Given the description of an element on the screen output the (x, y) to click on. 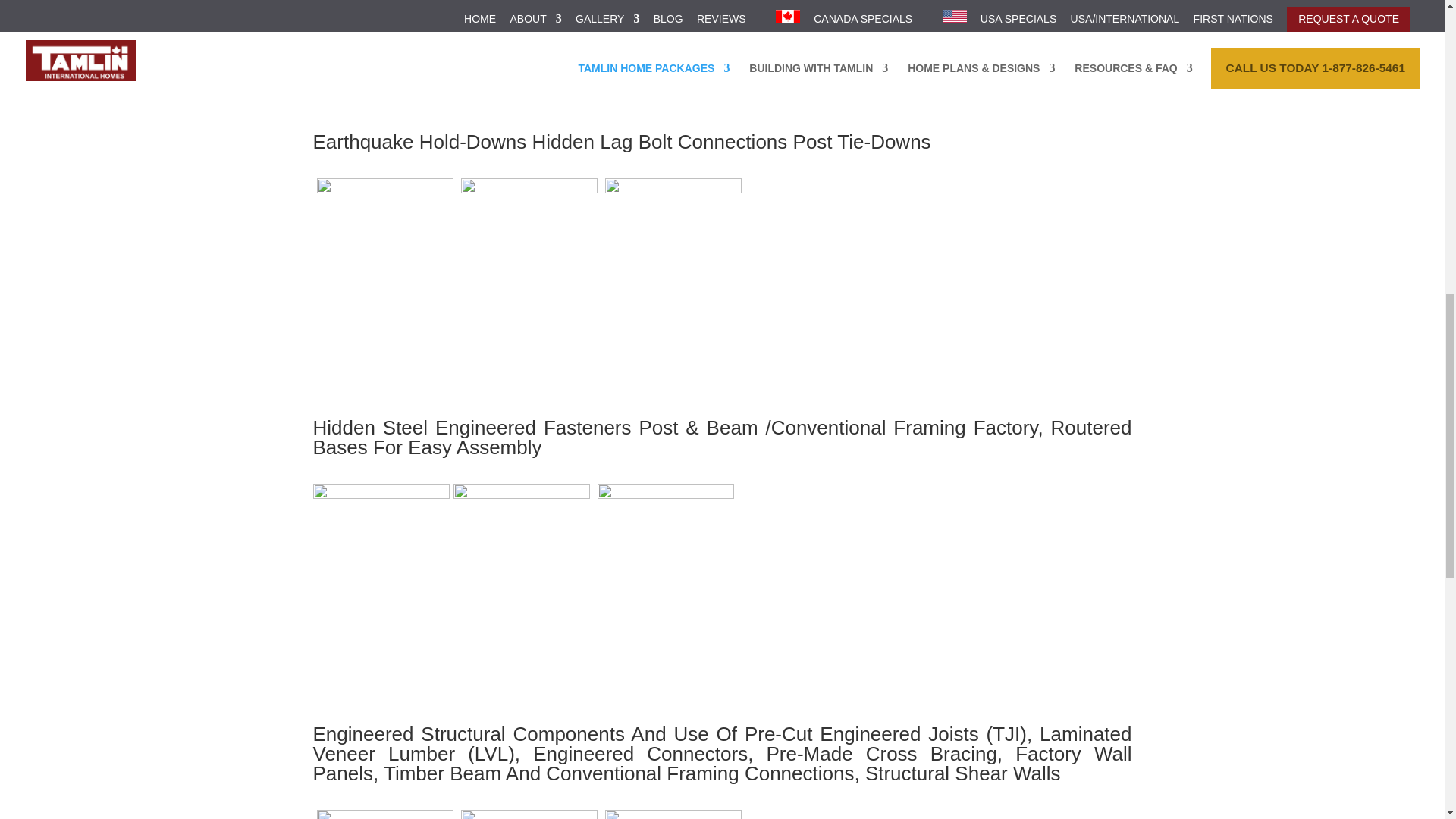
precision fit- Tamlin Custom Home Packages (528, 36)
hidden tie downs- Tamlin Custom Home Packages (520, 535)
Up to loft- Tamlin Timber Frame Packages (673, 36)
timber structure- Tamlin Custom Home Packages (384, 36)
timber structure2- Tamlin Custom Home Packages (664, 535)
Tamlin Custom Home Packages- hidden fastners (673, 229)
